Given the description of an element on the screen output the (x, y) to click on. 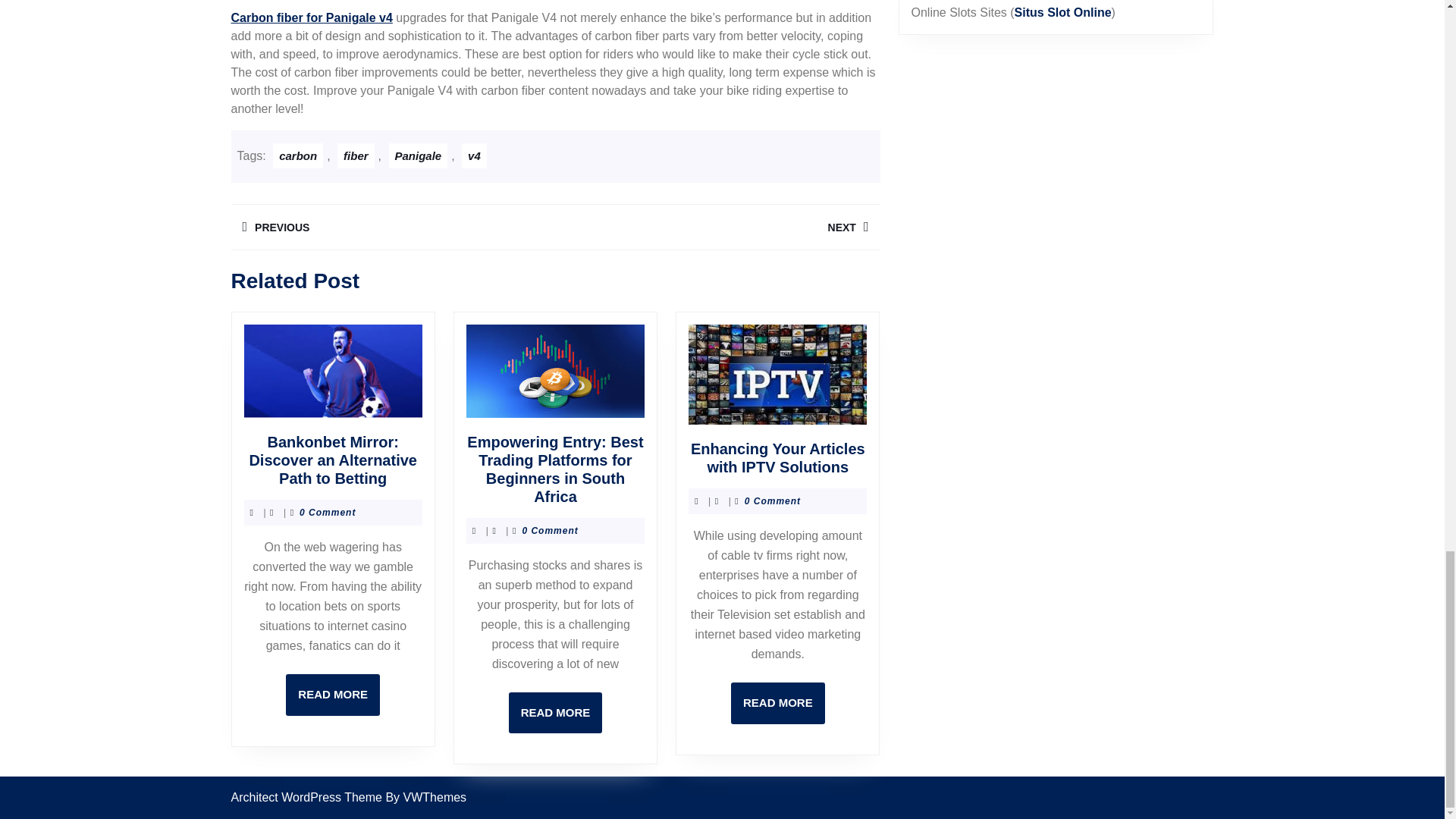
fiber (355, 155)
carbon (298, 155)
Panigale (417, 155)
v4 (473, 155)
